Given the description of an element on the screen output the (x, y) to click on. 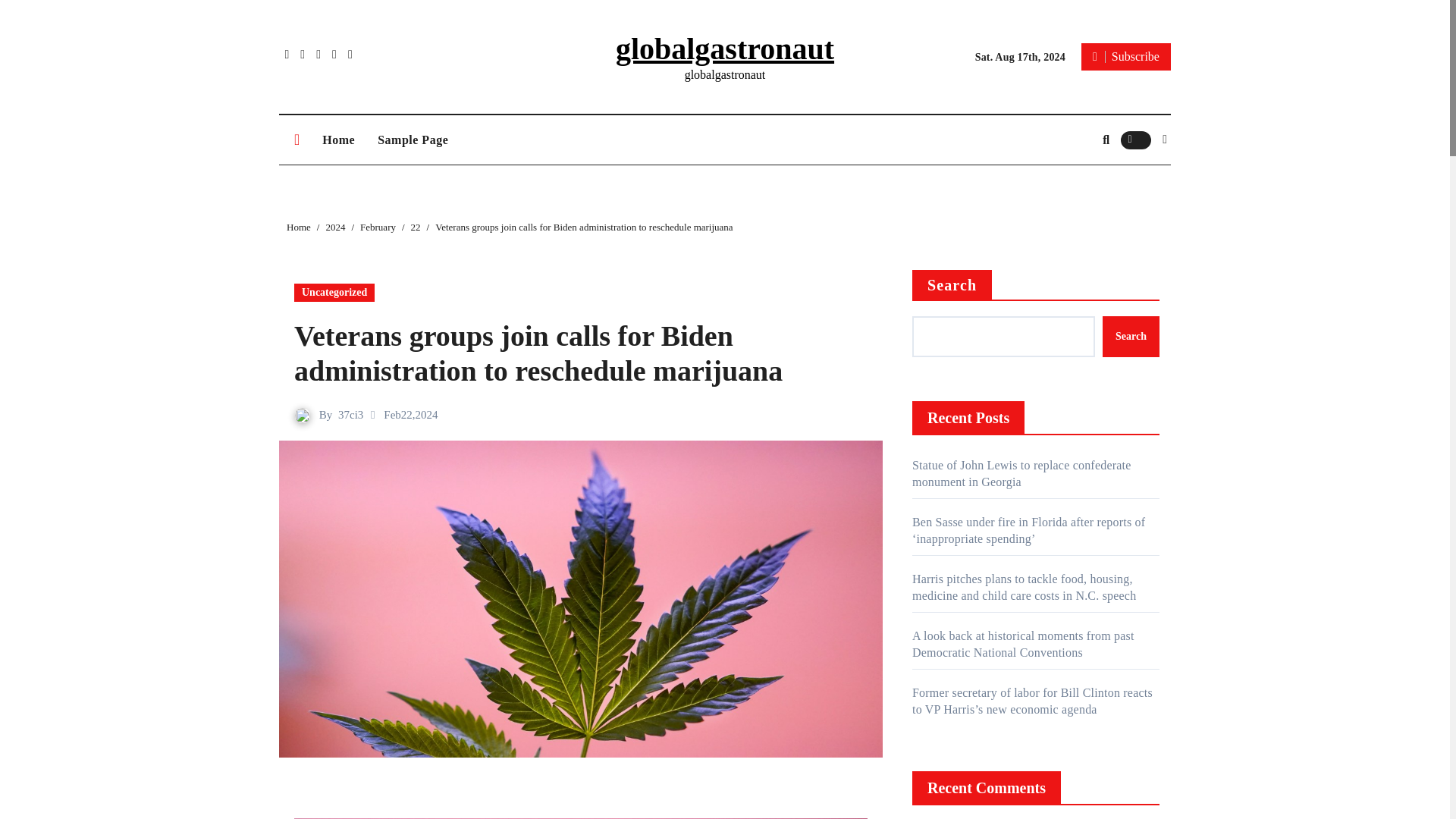
2024 (334, 226)
February (377, 226)
Uncategorized (334, 292)
Home (338, 139)
Home (298, 226)
Subscribe (1125, 56)
Home (338, 139)
37ci3 (349, 413)
Sample Page (413, 139)
globalgastronaut (724, 48)
